Given the description of an element on the screen output the (x, y) to click on. 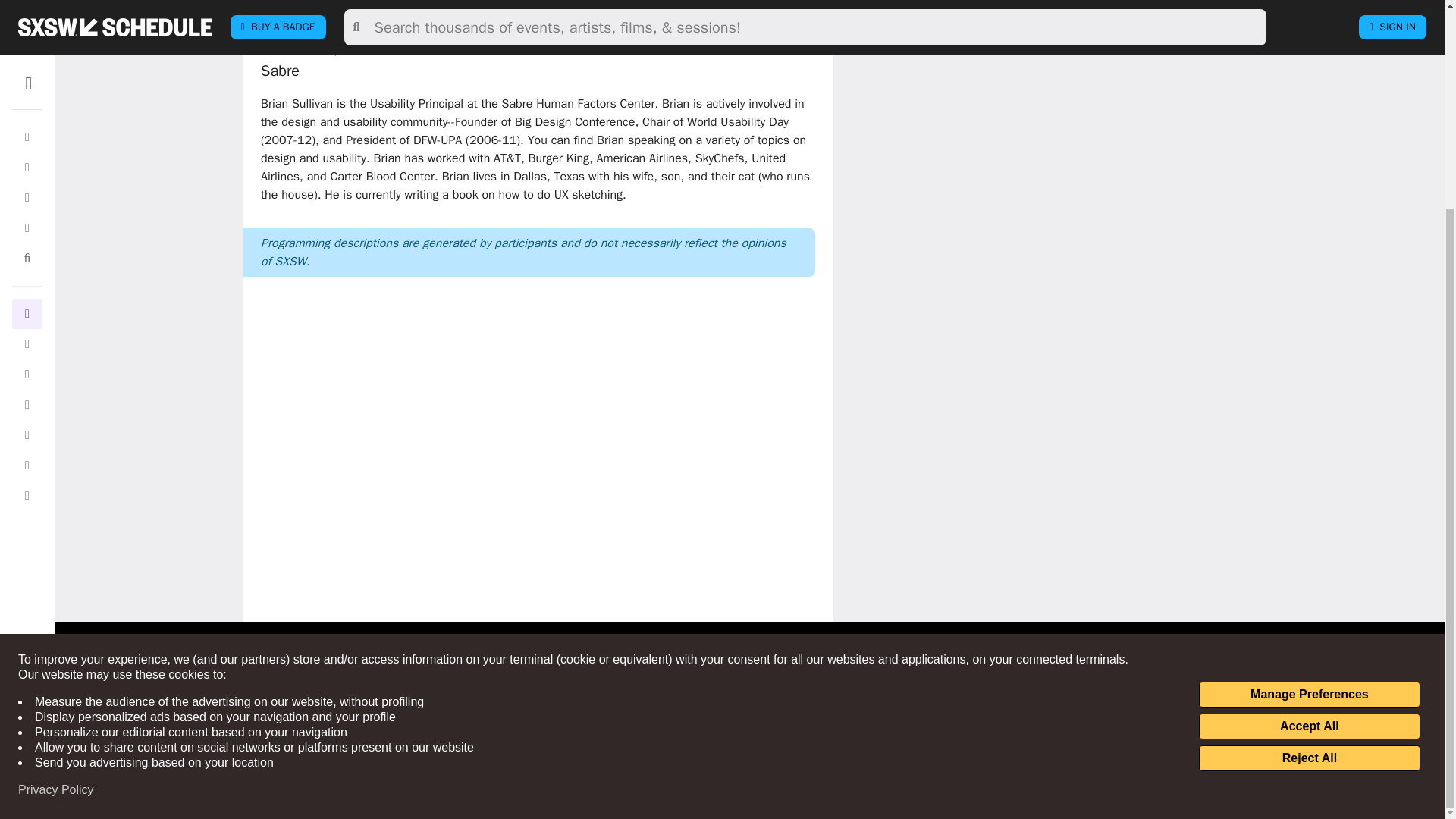
Manage Preferences (1309, 424)
Reject All (1309, 488)
Accept All (1309, 456)
Privacy Policy (55, 519)
